Given the description of an element on the screen output the (x, y) to click on. 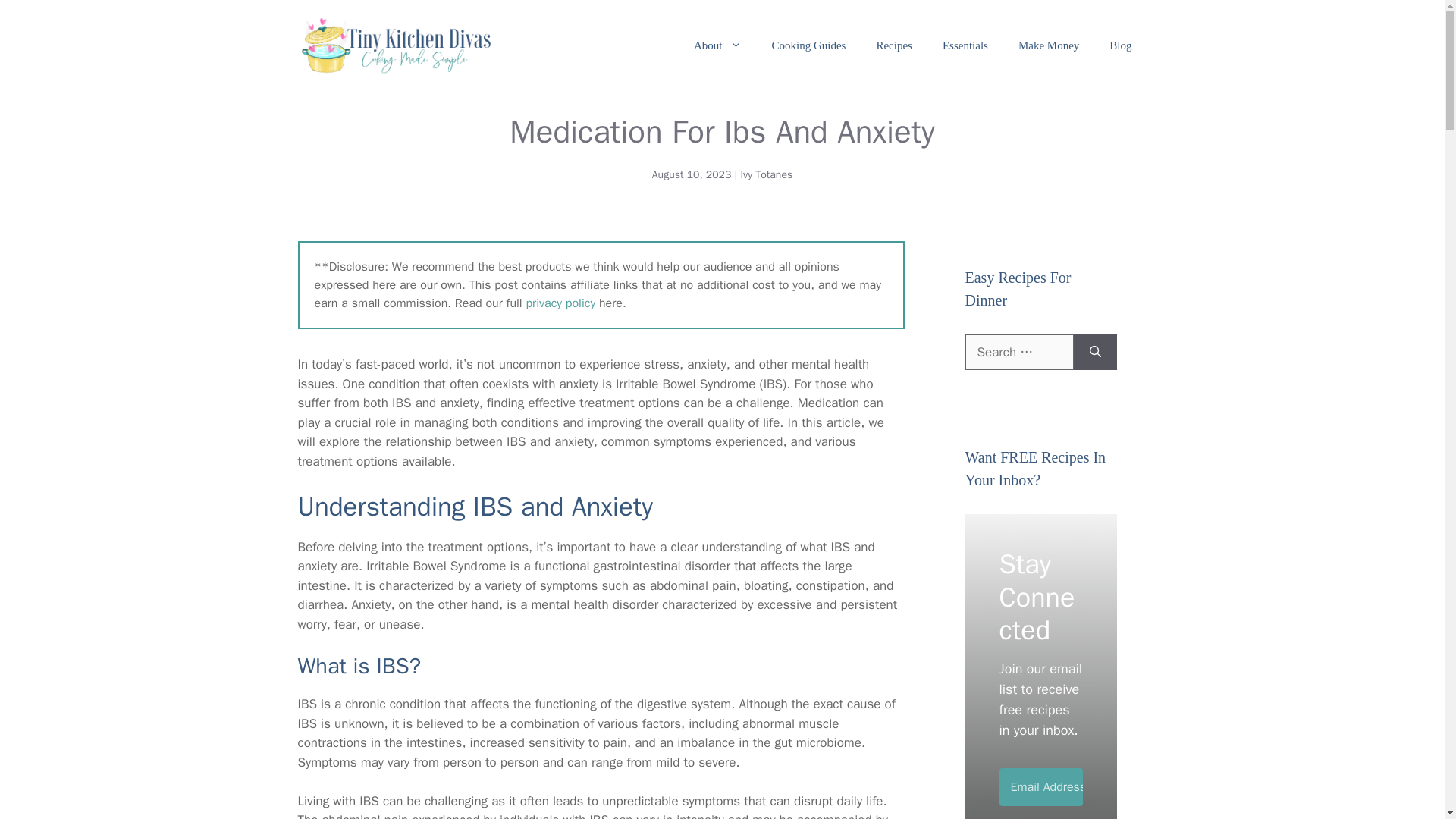
Recipes (893, 44)
Make Money (1048, 44)
Essentials (965, 44)
Blog (1120, 44)
privacy policy (560, 303)
Cooking Guides (809, 44)
View all posts by Ivy Totanes (765, 174)
About (717, 44)
Ivy Totanes (765, 174)
Search for: (1018, 352)
